Given the description of an element on the screen output the (x, y) to click on. 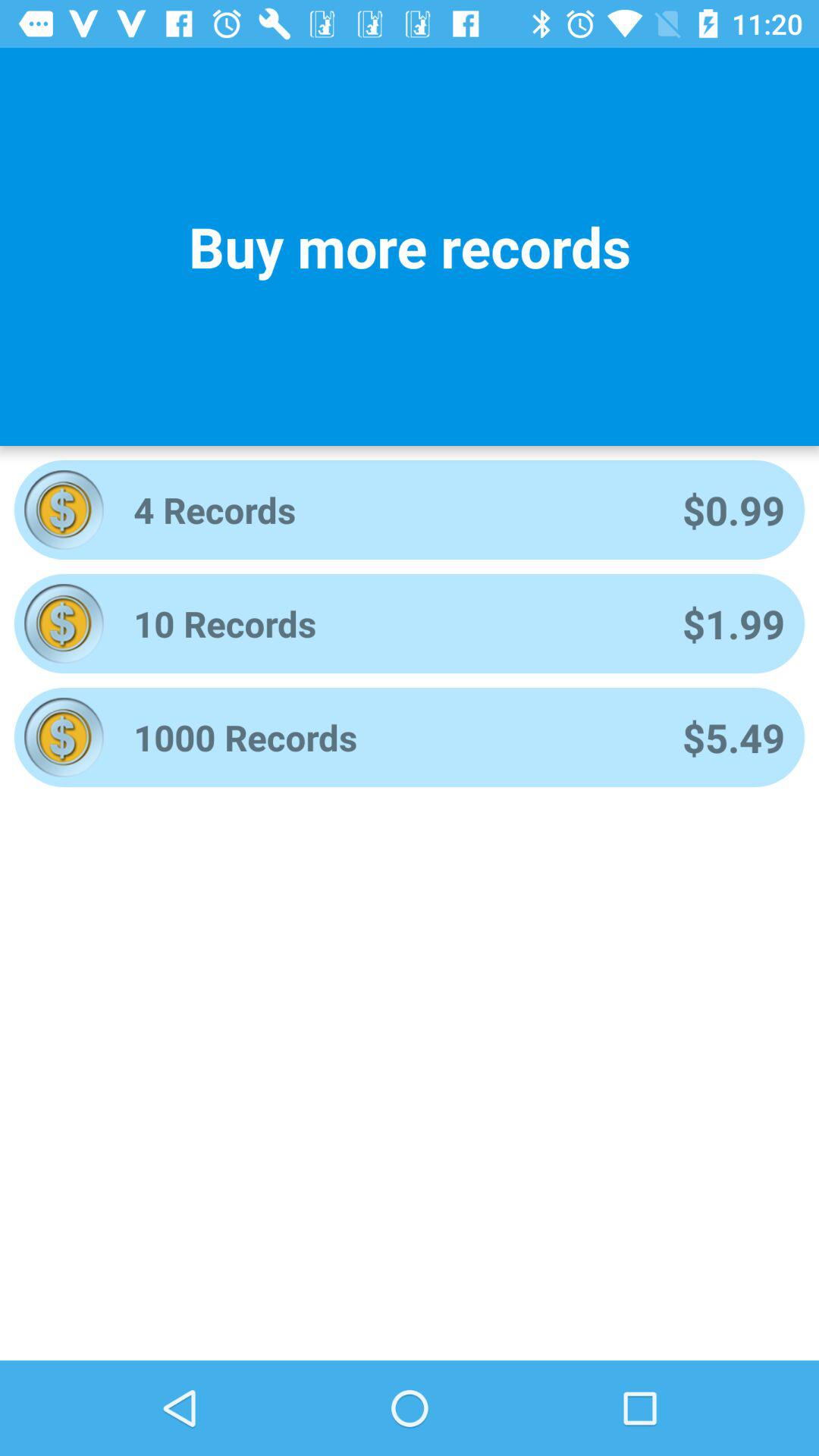
scroll until the 10 records app (387, 623)
